Given the description of an element on the screen output the (x, y) to click on. 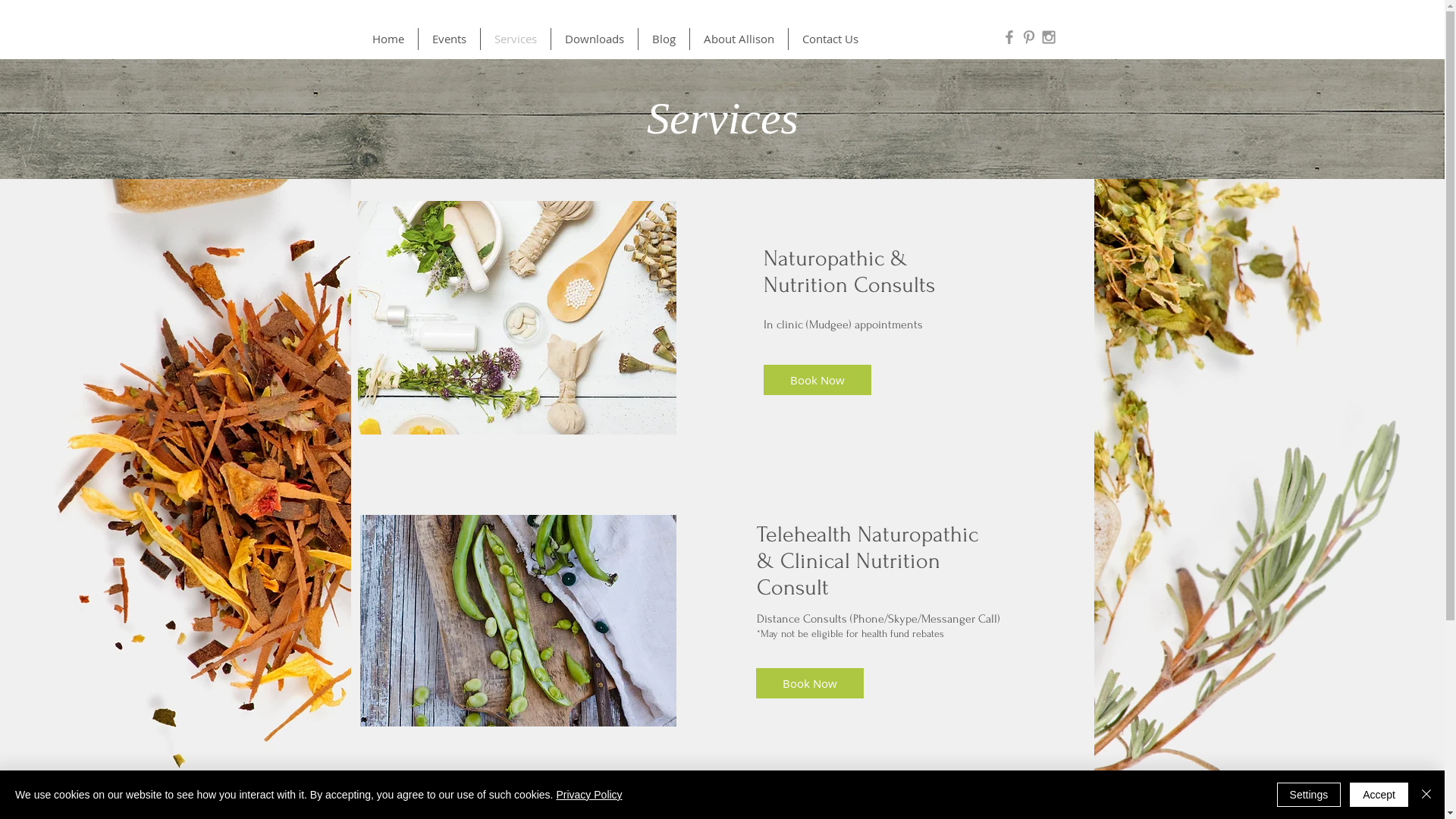
Services Element type: text (515, 39)
info@fundamentalwellbeing.com.au Element type: text (974, 807)
Downloads Element type: text (593, 39)
About Allison Element type: text (738, 39)
Settings Element type: text (1309, 794)
Accept Element type: text (1378, 794)
Home Element type: text (387, 39)
Events Element type: text (449, 39)
Book Now Element type: text (808, 683)
Contact Us Element type: text (830, 39)
Privacy Policy Element type: text (588, 794)
Book Now Element type: text (816, 379)
Blog Element type: text (663, 39)
